Given the description of an element on the screen output the (x, y) to click on. 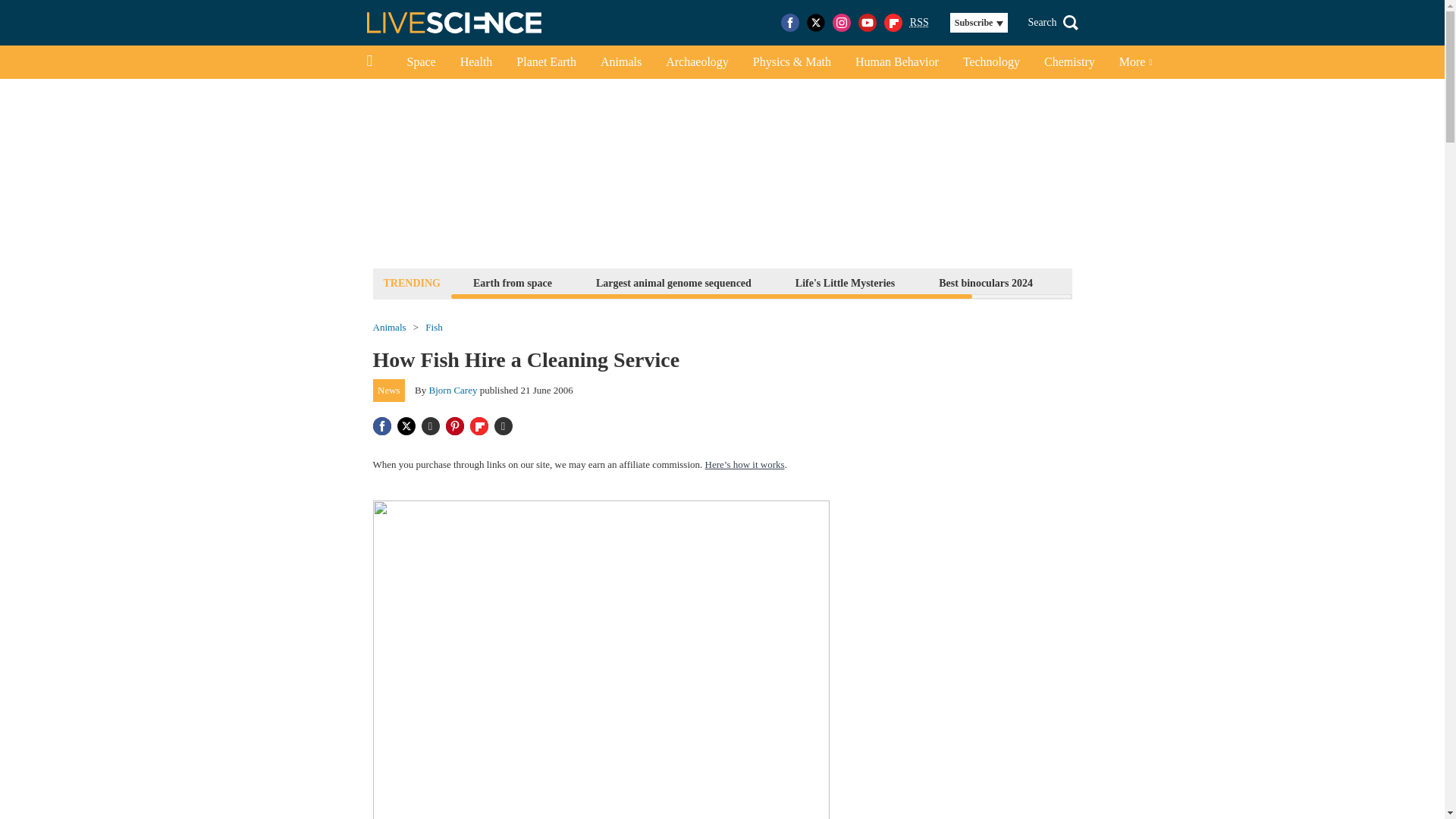
Space (420, 61)
Largest animal genome sequenced (674, 282)
RSS (919, 22)
Animals (620, 61)
Planet Earth (545, 61)
Bjorn Carey (453, 389)
Antibiotic resistance (1122, 282)
Technology (991, 61)
Earth from space (512, 282)
Animals (389, 327)
